Given the description of an element on the screen output the (x, y) to click on. 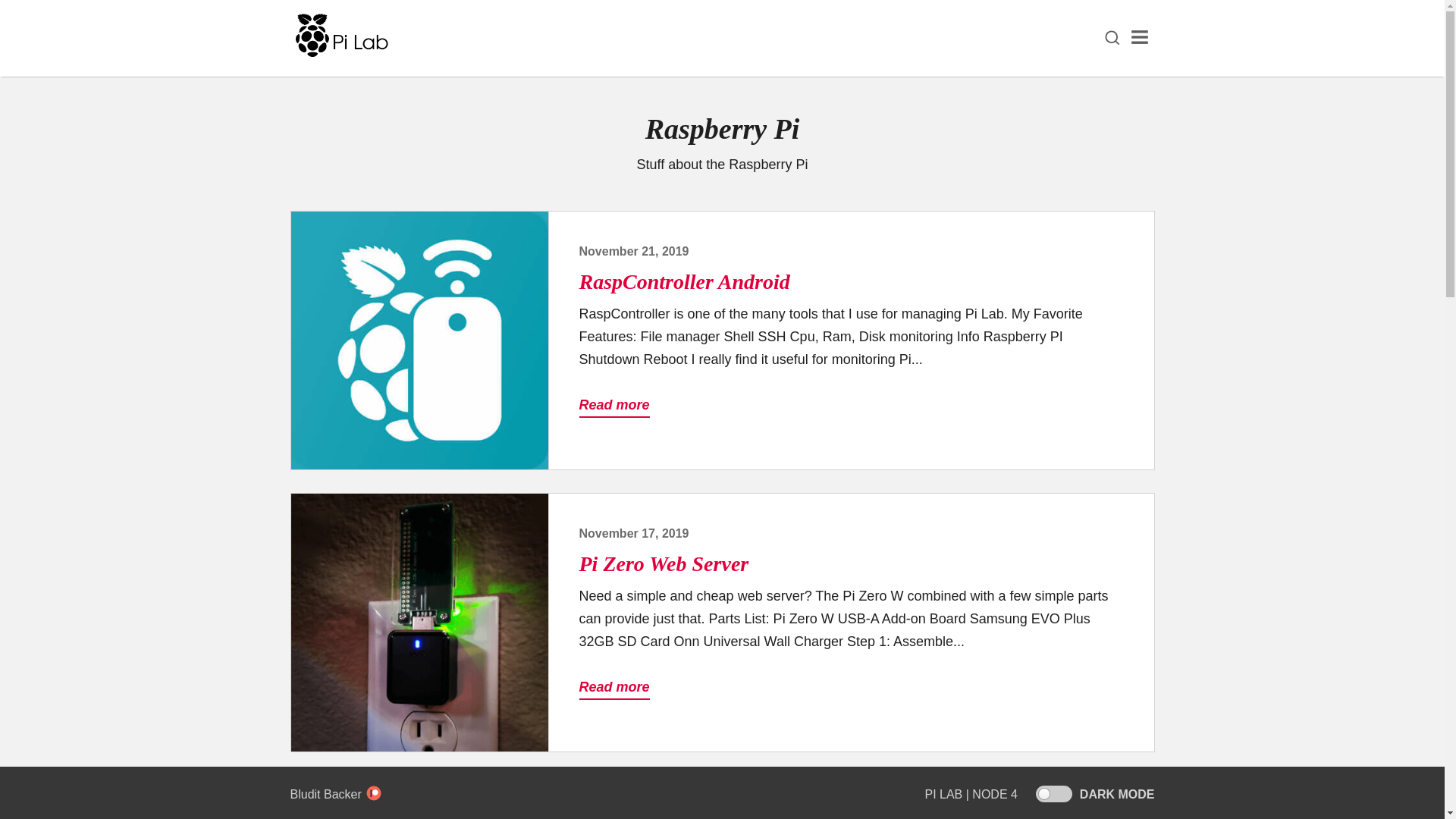
RaspController Android (684, 281)
Read more (614, 405)
Continue reading Dev Dashboard Build Tool (419, 797)
Continue reading Pi Zero Web Server (419, 622)
Menu (1139, 37)
Read more (614, 687)
Pi Zero Web Server (664, 563)
View Node 4 Dashboard (994, 793)
Continue reading RaspController Android (419, 340)
